Given the description of an element on the screen output the (x, y) to click on. 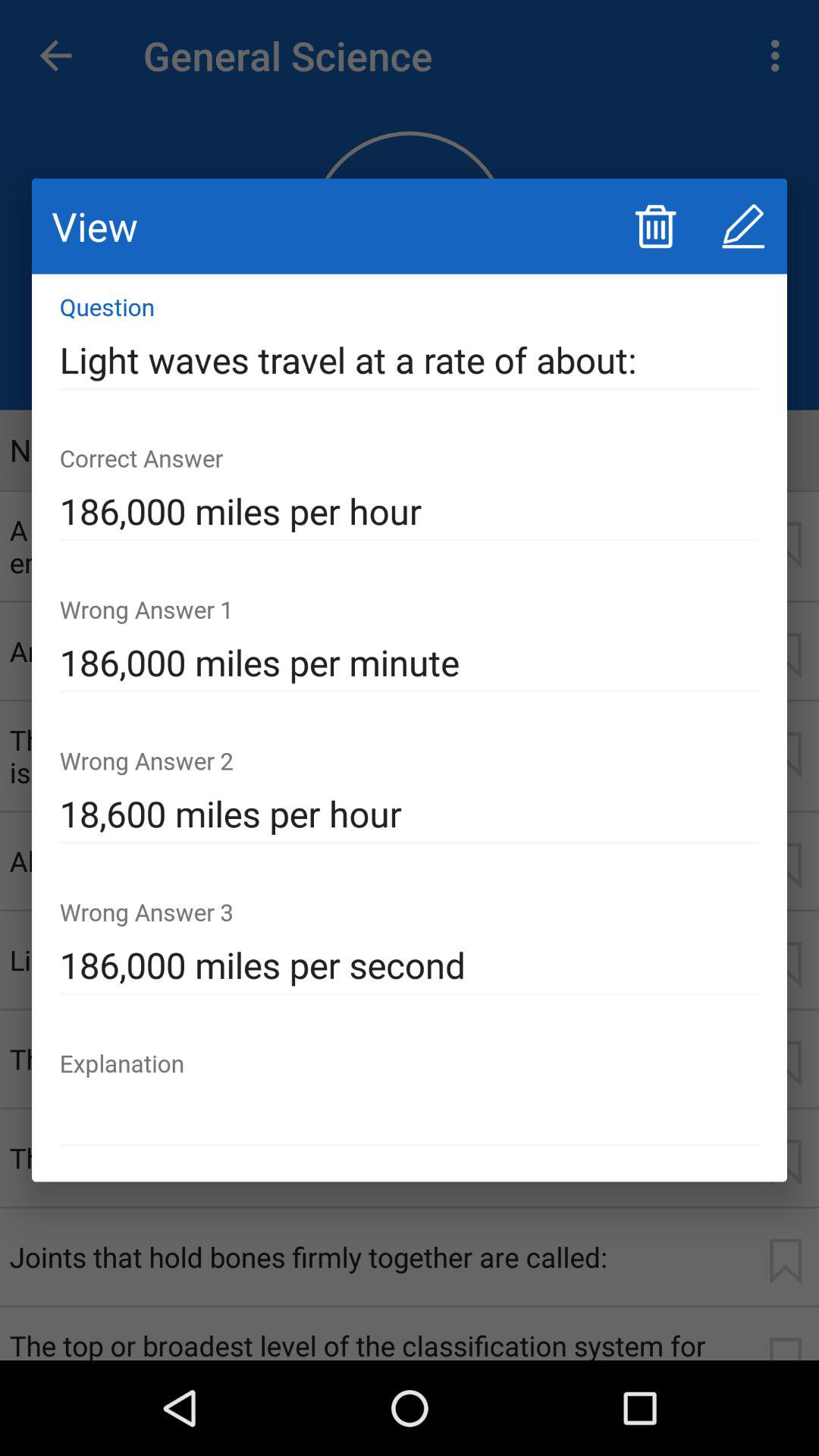
choose item below the 186 000 miles item (409, 1116)
